Given the description of an element on the screen output the (x, y) to click on. 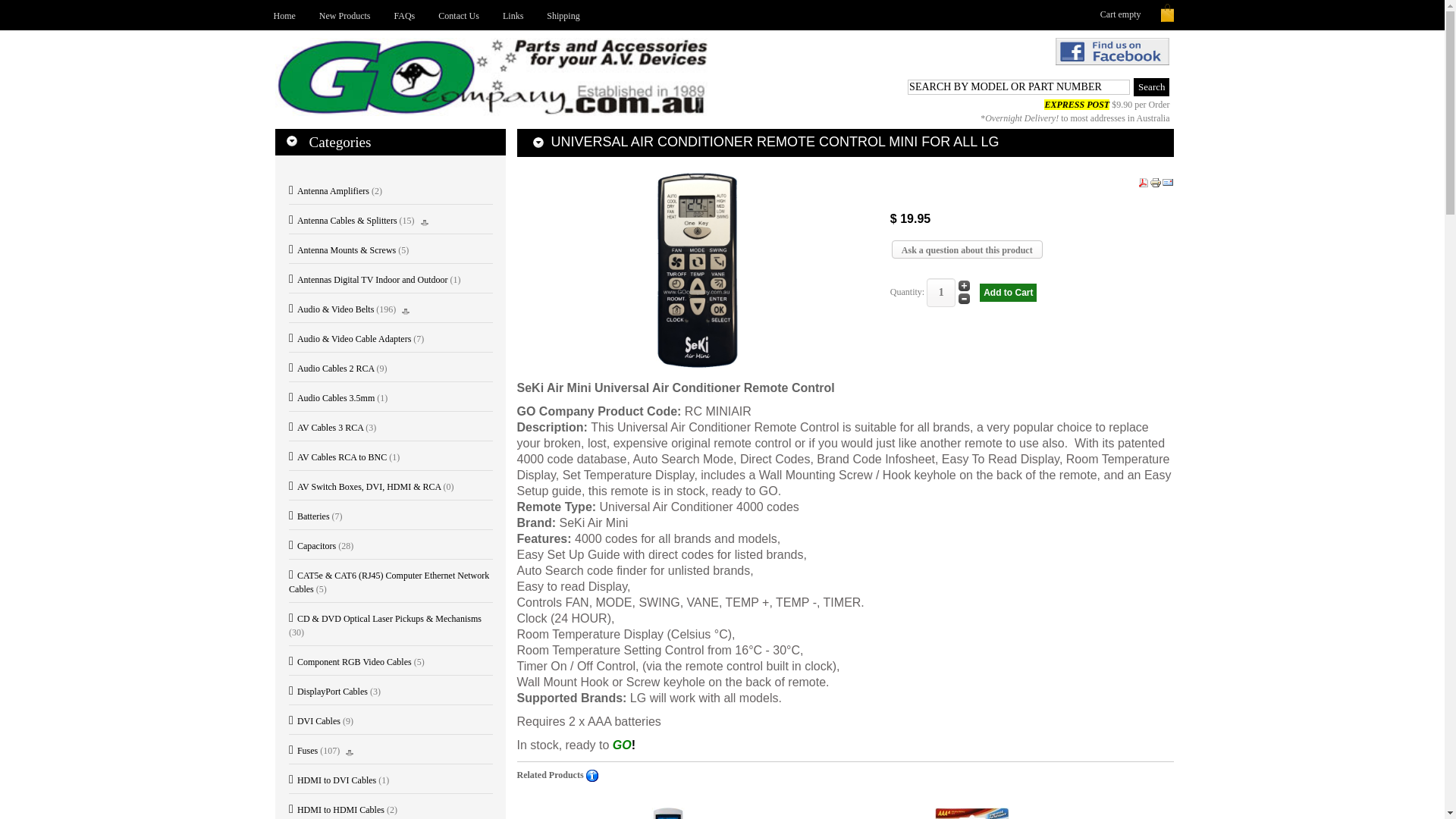
Links Element type: text (512, 15)
DisplayPort Cables Element type: text (327, 691)
DVI Cables Element type: text (314, 720)
Fuses Element type: text (302, 750)
CD & DVD Optical Laser Pickups & Mechanisms Element type: text (384, 618)
Print Element type: hover (1155, 181)
CAT5e & CAT6 (RJ45) Computer Ethernet Network Cables Element type: text (388, 582)
*Overnight Delivery! to most addresses in Australia Element type: text (1074, 117)
EXPRESS POST $9.90 per Order Element type: text (1106, 104)
HDMI to HDMI Cables Element type: text (336, 809)
Audio Cables 2 RCA Element type: text (331, 368)
PDF Element type: hover (1143, 181)
HDMI to DVI Cables Element type: text (332, 780)
Add to Cart Element type: text (1007, 292)
Audio & Video Belts Element type: text (330, 309)
Contact Us Element type: text (458, 15)
Antenna Mounts & Screws Element type: text (341, 249)
Antenna Amplifiers Element type: text (328, 190)
AV Switch Boxes, DVI, HDMI & RCA Element type: text (364, 486)
UNIVERSAL_AIR_CO_544b310c0cf70.jpg Element type: hover (696, 269)
Email Element type: hover (1167, 181)
Audio Cables 3.5mm Element type: text (331, 397)
Add to Cart Element type: hover (1007, 292)
Capacitors Element type: text (311, 545)
Home Element type: text (283, 15)
Shipping Element type: text (562, 15)
New Products Element type: text (344, 15)
FAQs Element type: text (404, 15)
Antenna Cables & Splitters Element type: text (342, 220)
Search Element type: text (1151, 87)
Antennas Digital TV Indoor and Outdoor Element type: text (367, 279)
Batteries Element type: text (308, 516)
AV Cables 3 RCA Element type: text (325, 427)
AV Cables RCA to BNC Element type: text (337, 456)
Ask a question about this product Element type: text (966, 249)
Component RGB Video Cables Element type: text (349, 661)
Audio & Video Cable Adapters Element type: text (349, 338)
